Given the description of an element on the screen output the (x, y) to click on. 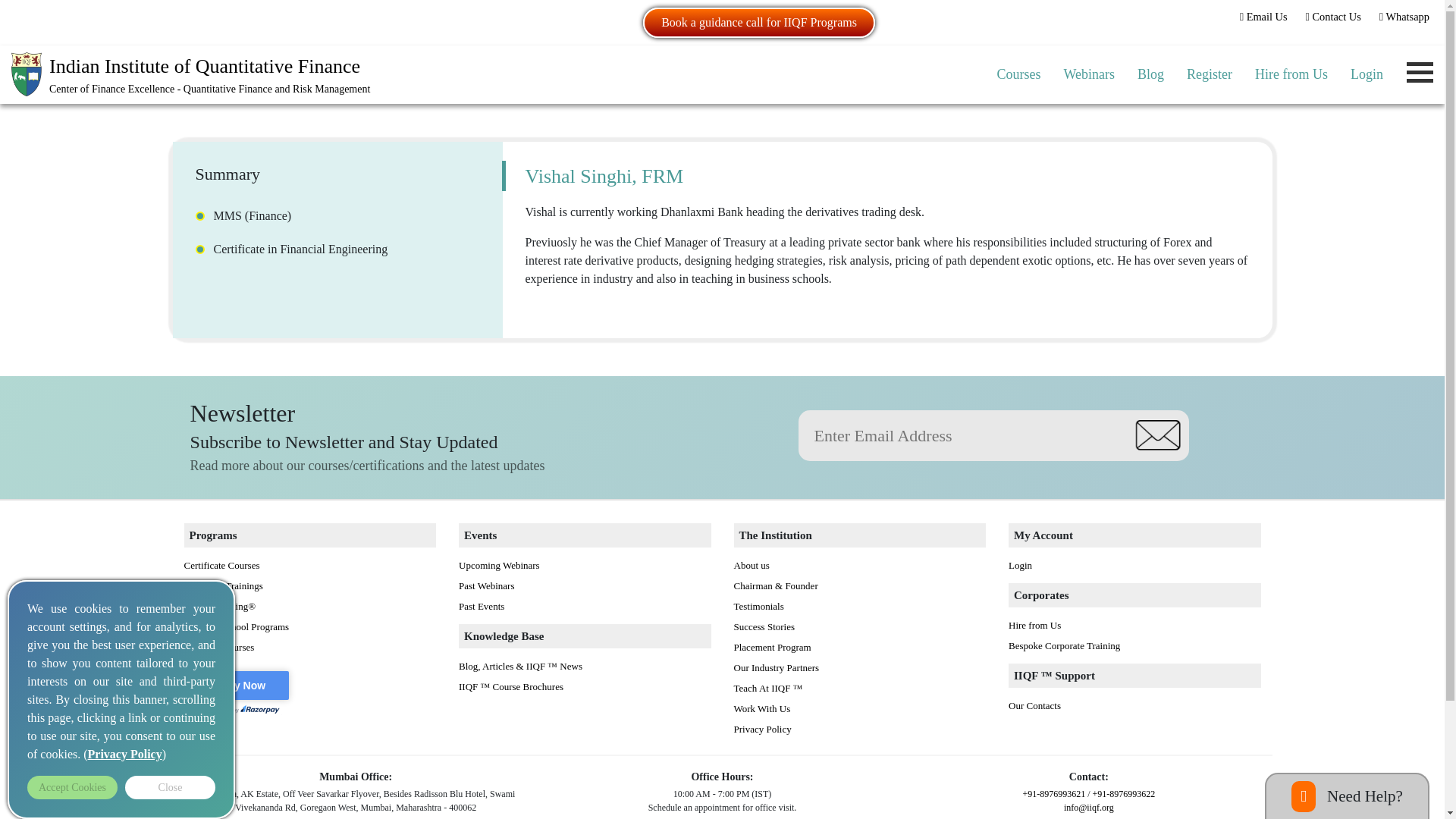
Book a guidance call for IIQF Programs (759, 22)
Hire from Us (1291, 74)
Blog (1150, 74)
Login (1366, 74)
Register (1209, 74)
Contact Us (1333, 16)
IIQF (190, 73)
Courses (1018, 74)
Email Us (1263, 16)
